Given the description of an element on the screen output the (x, y) to click on. 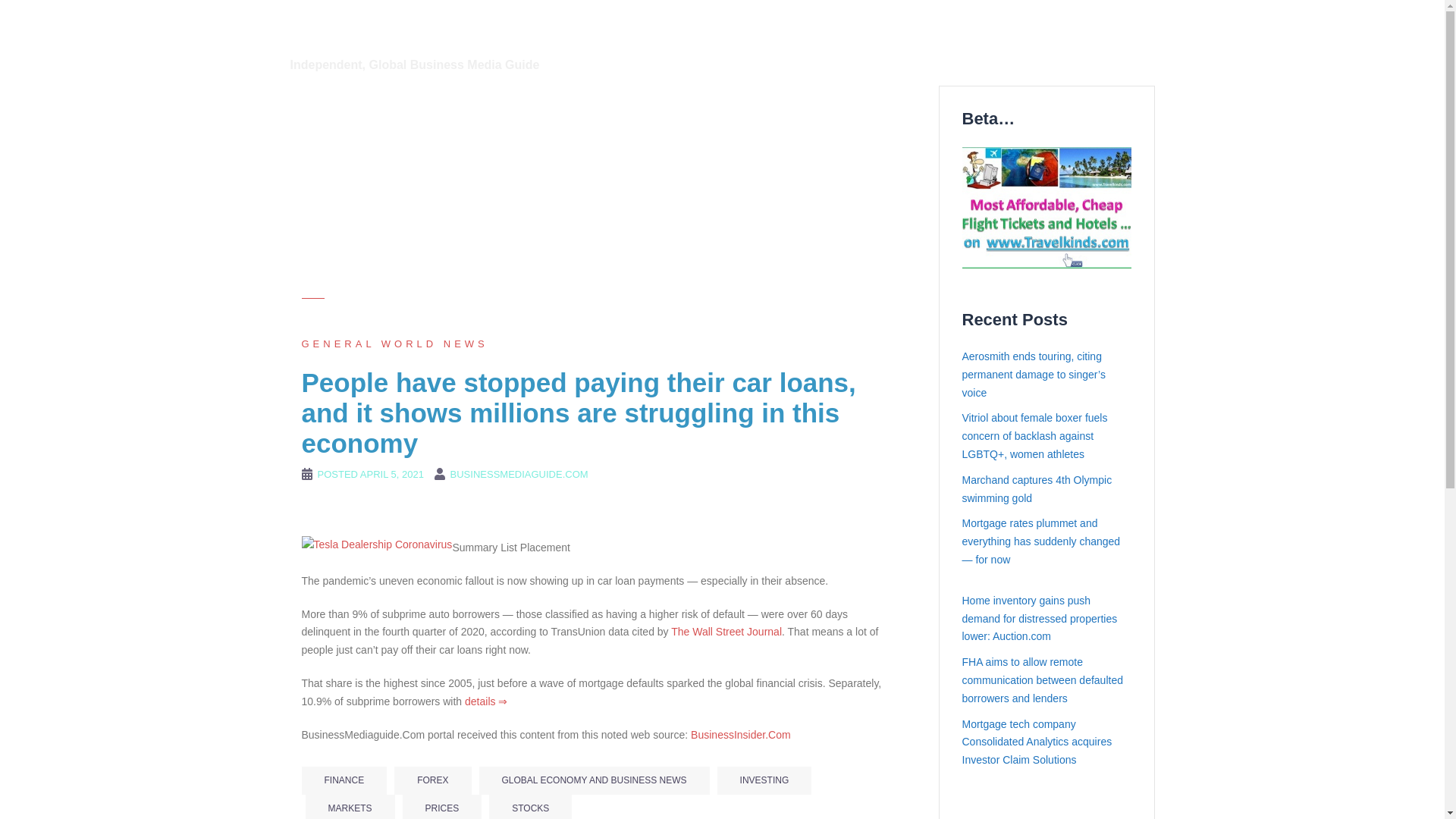
FINANCE (344, 779)
Education news (958, 27)
APRIL 5, 2021 (391, 473)
Contact Us (912, 45)
PRICES (442, 806)
BusinessMediaguide.Com (440, 29)
Gold prices in Dubai (1065, 27)
Contact with BusinessMediaguide.Com (912, 45)
Marchand captures 4th Olympic swimming gold (1036, 489)
STOCKS (530, 806)
